Given the description of an element on the screen output the (x, y) to click on. 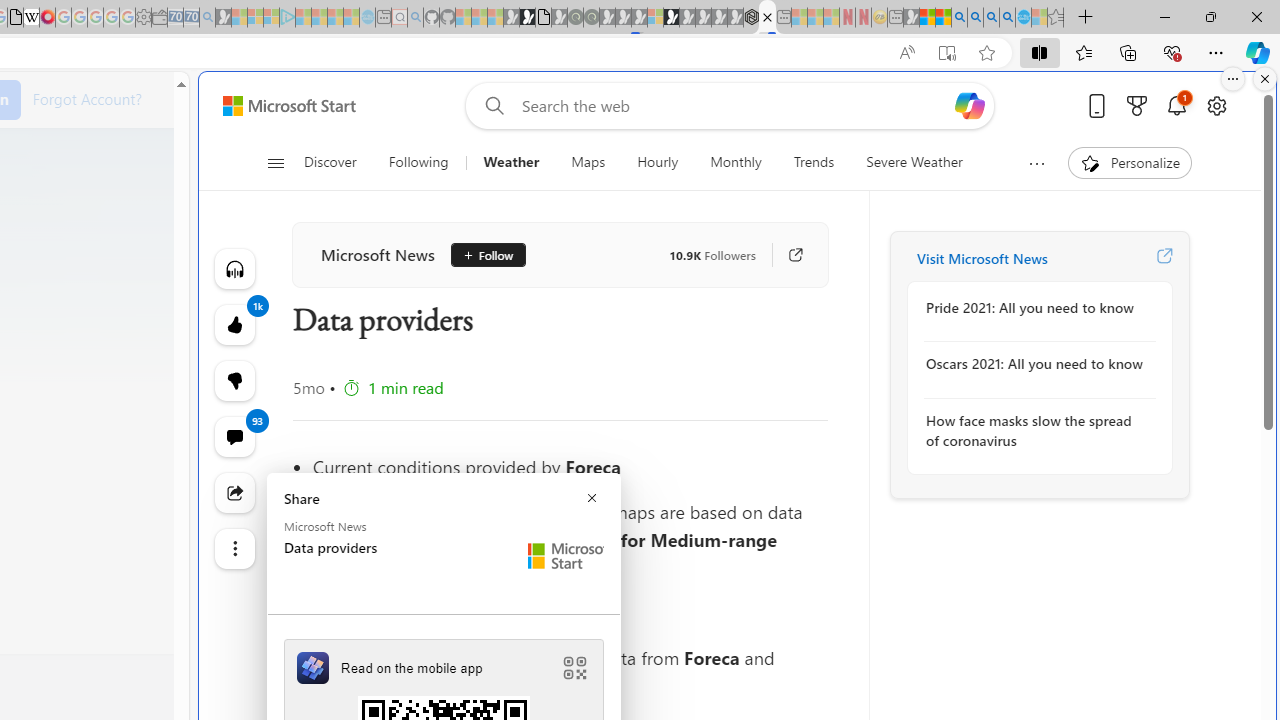
1k (234, 380)
Personalize (1128, 162)
Hourly (657, 162)
Class: at-item (234, 548)
MSN - Sleeping (911, 17)
Microsoft Start Gaming - Sleeping (223, 17)
Oscars 2021: All you need to know (1034, 364)
Target page - Wikipedia (31, 17)
Monthly (735, 162)
Favorites - Sleeping (1055, 17)
